Given the description of an element on the screen output the (x, y) to click on. 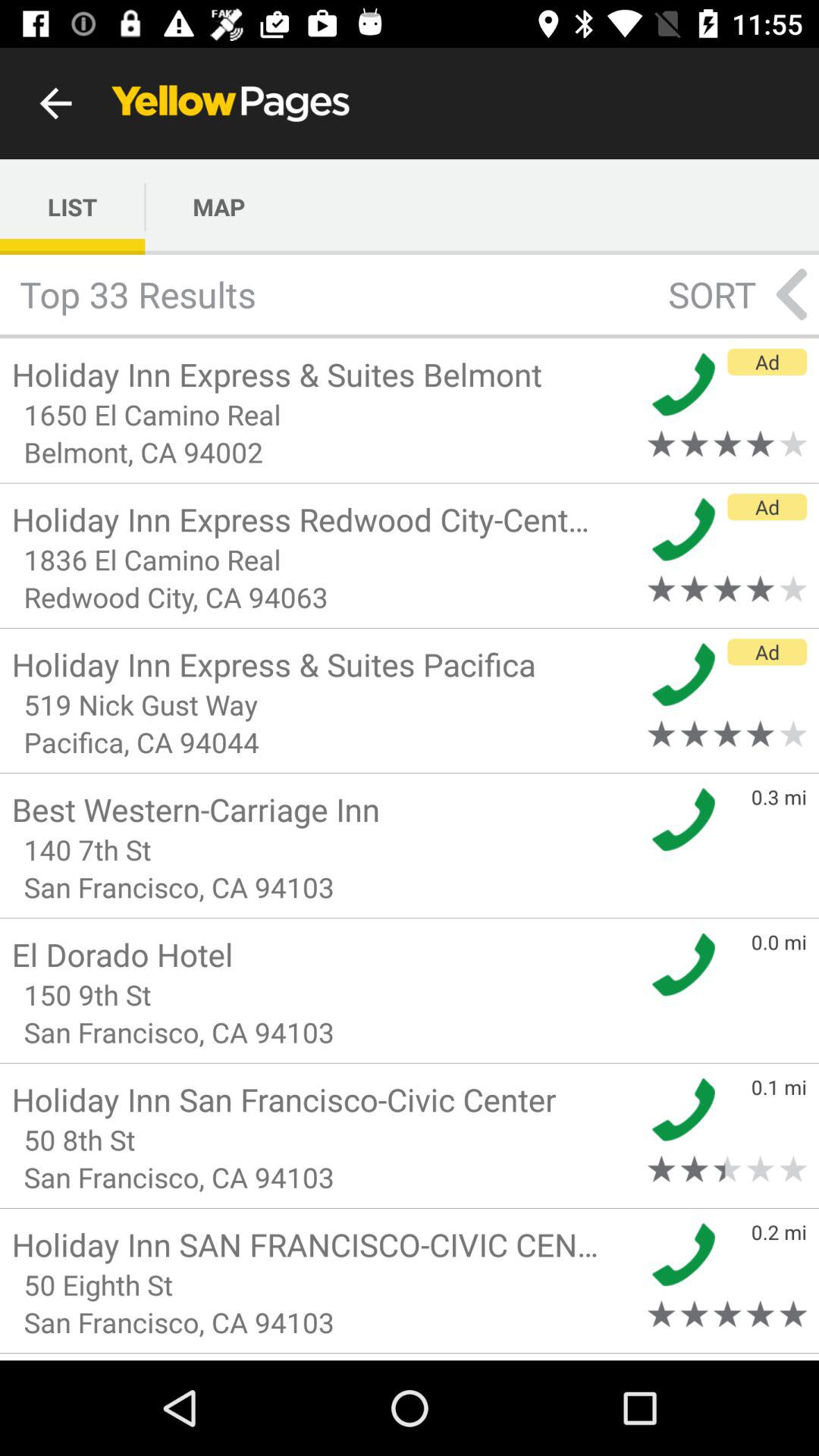
jump until map icon (218, 206)
